Given the description of an element on the screen output the (x, y) to click on. 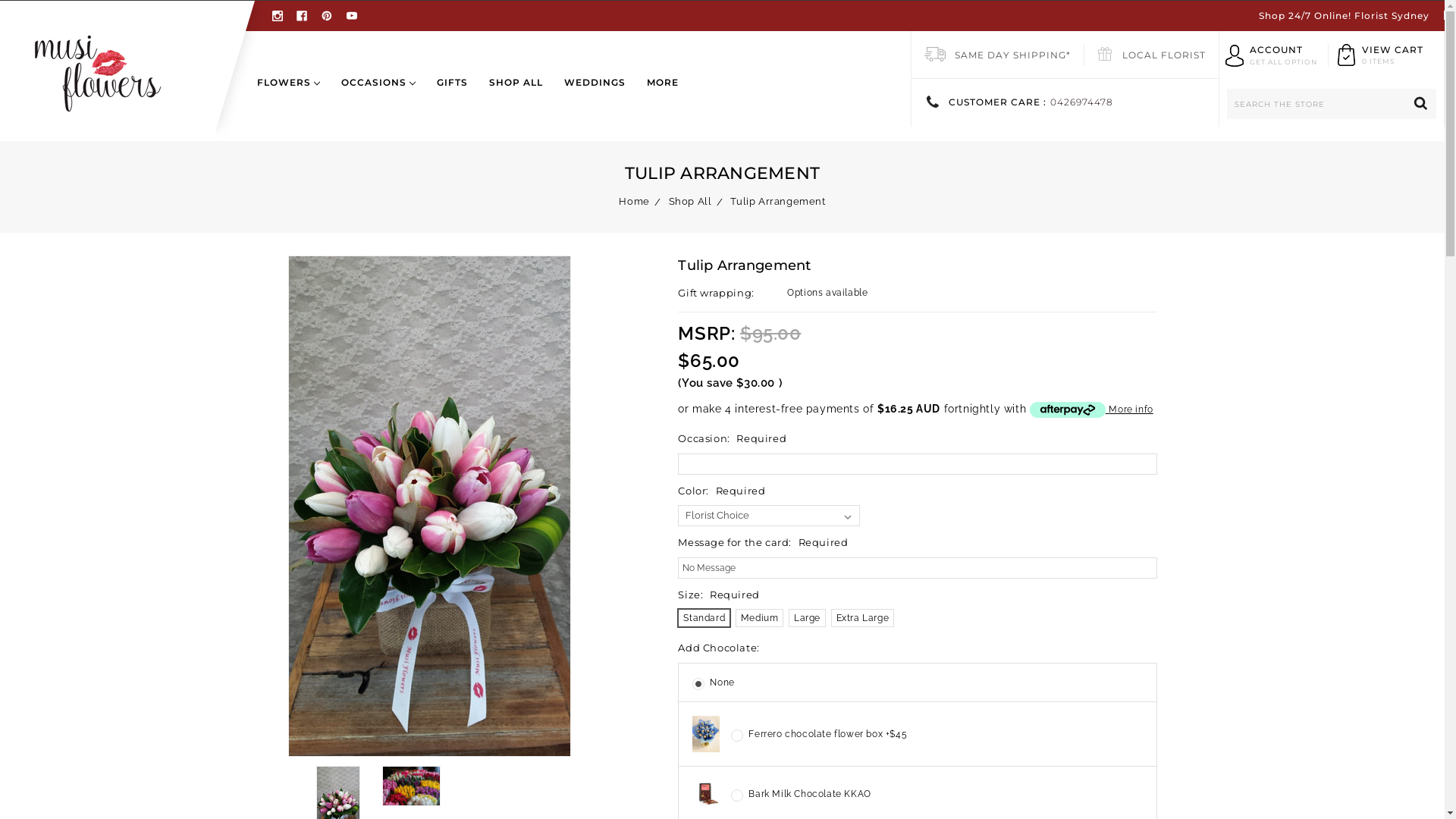
WEDDINGS Element type: text (594, 93)
FLOWERS Element type: text (293, 93)
Tulip Arrangement Element type: text (777, 201)
GIFTS Element type: text (452, 93)
SHOP ALL Element type: text (515, 93)
Shop All Element type: text (690, 201)
Creative Blooms Group PTY LTD Trading As Musi Flowers Element type: hover (96, 70)
Various colors available Element type: hover (411, 785)
Tulip Arrangement Element type: hover (429, 505)
More info Element type: text (1091, 409)
VIEW CART
0 ITEMS Element type: text (1392, 54)
Home Element type: text (633, 201)
Search Element type: text (1420, 103)
OCCASIONS Element type: text (378, 93)
MORE Element type: text (657, 93)
